Given the description of an element on the screen output the (x, y) to click on. 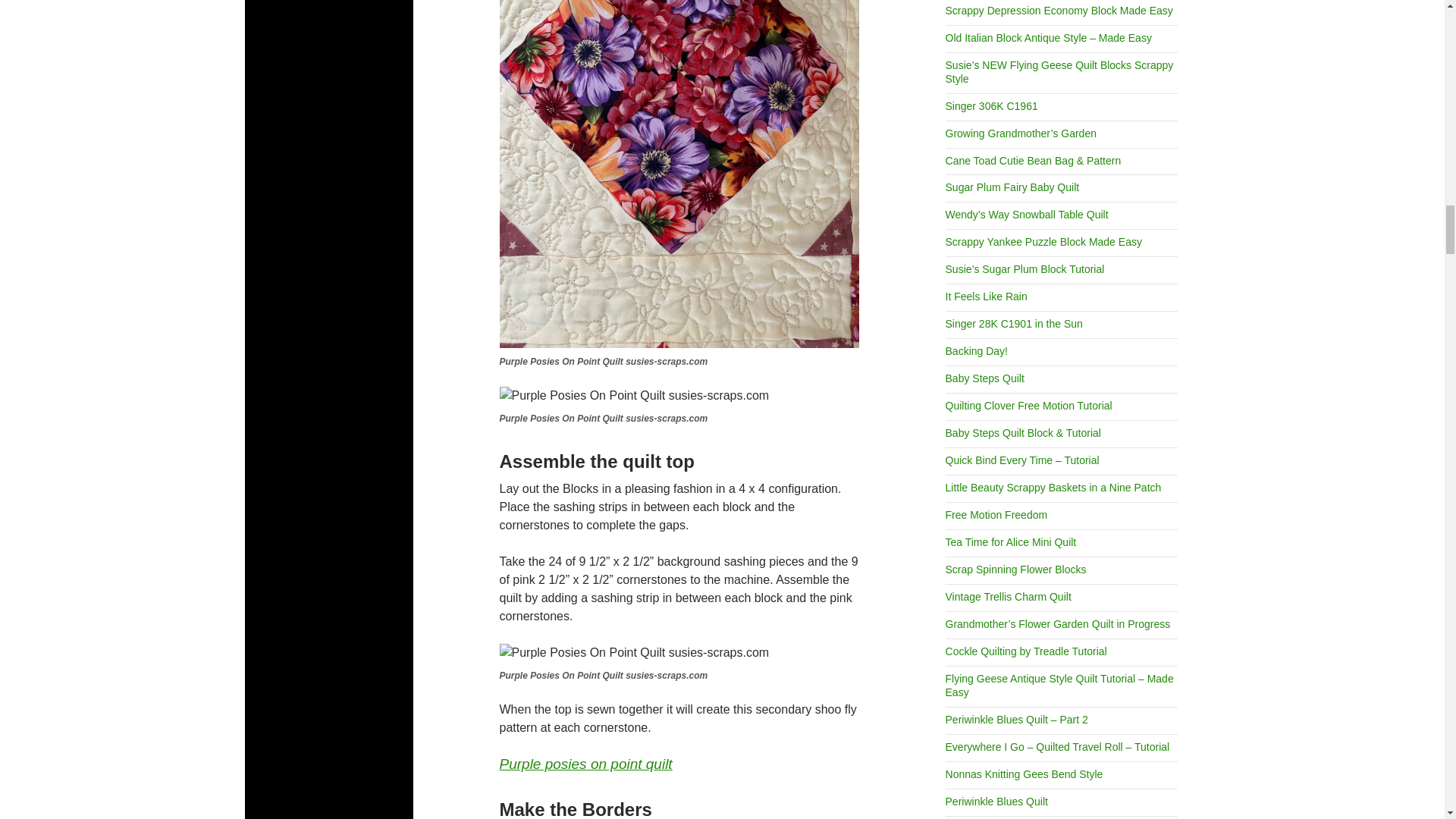
Purple posies on point quilt (585, 763)
